Given the description of an element on the screen output the (x, y) to click on. 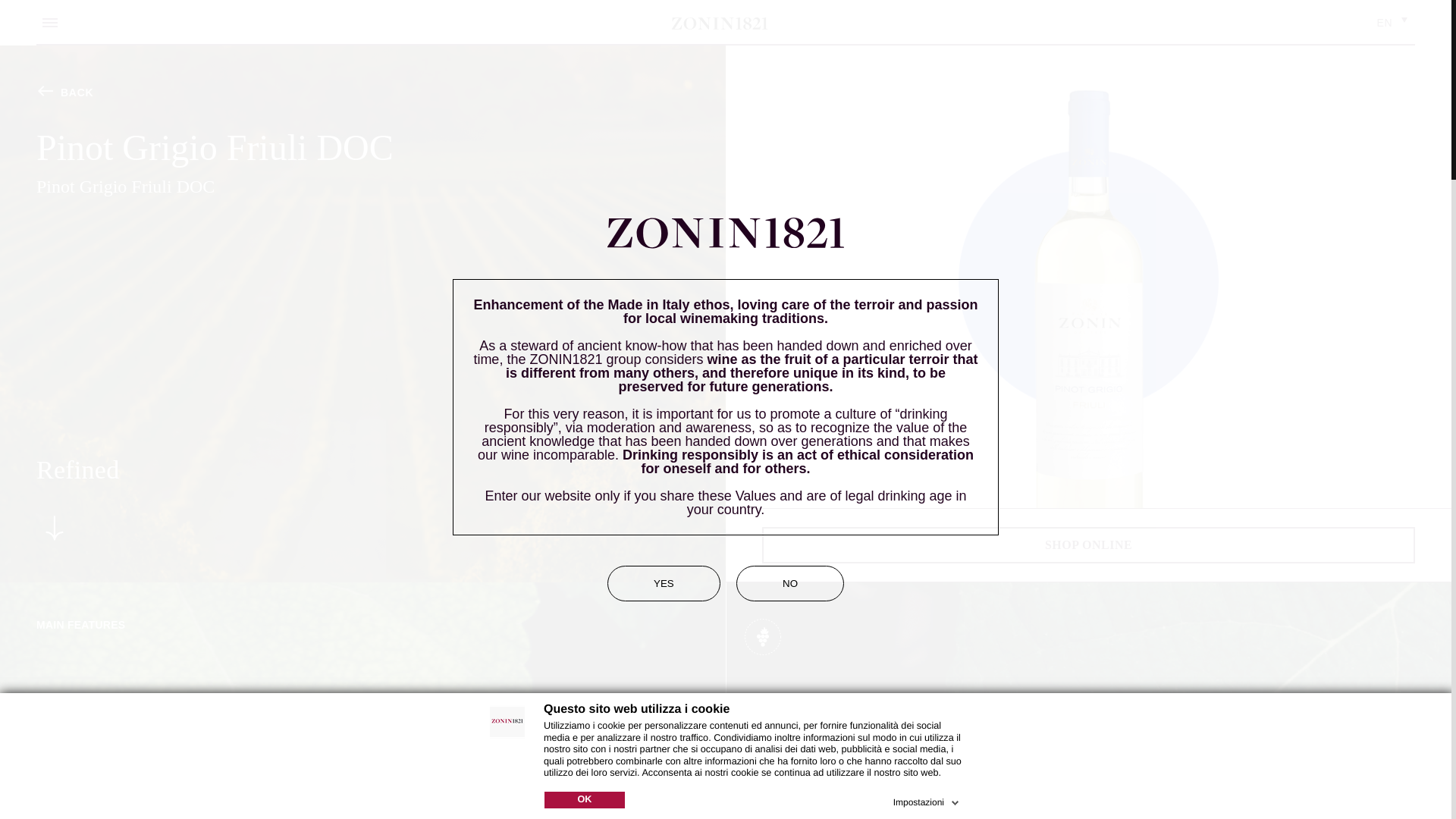
EN (1395, 22)
GROUP 21 (719, 23)
GROUP 21 (719, 22)
Impostazioni (927, 799)
OK (584, 799)
